Given the description of an element on the screen output the (x, y) to click on. 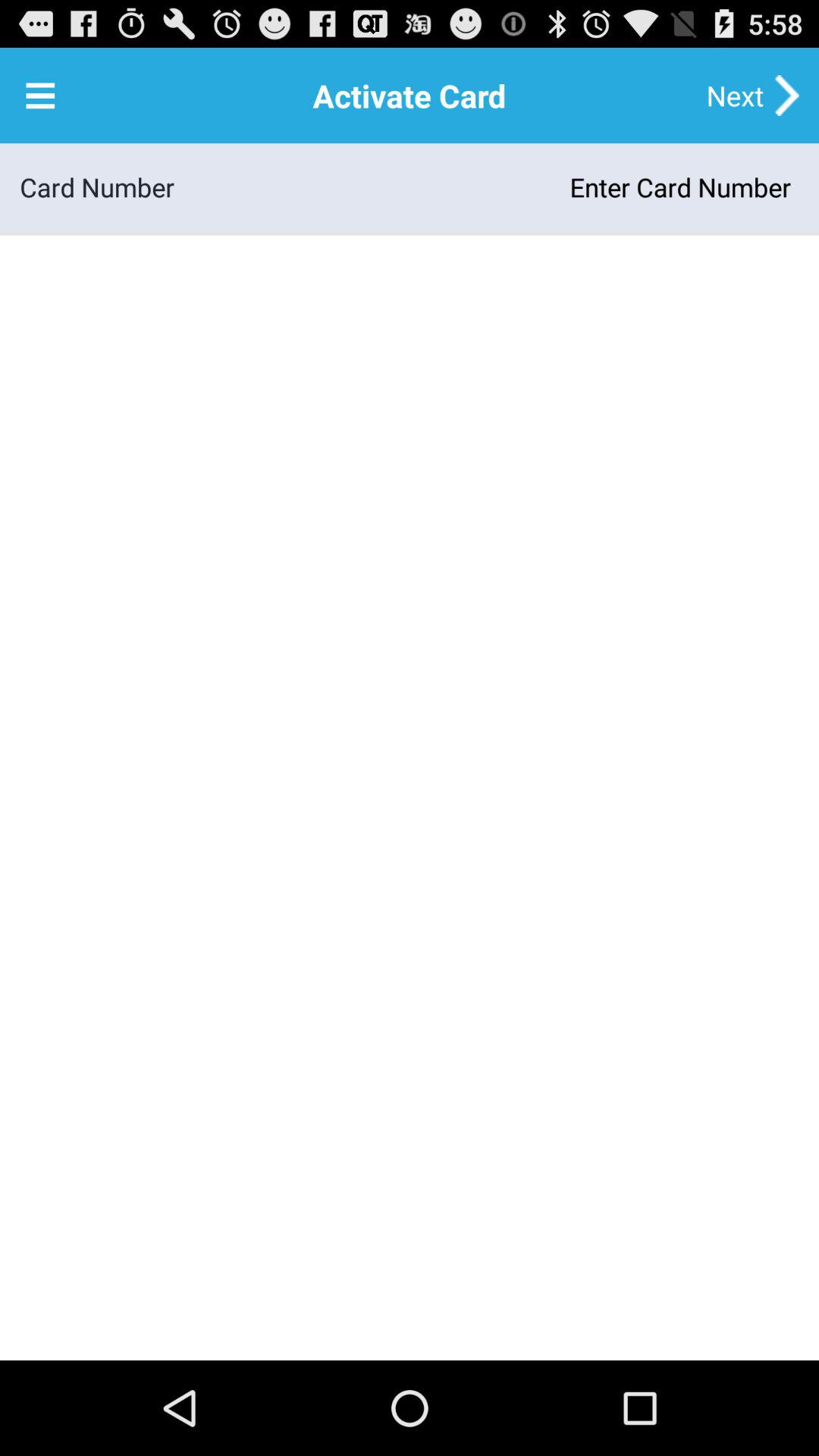
press button at the top right corner (735, 95)
